Given the description of an element on the screen output the (x, y) to click on. 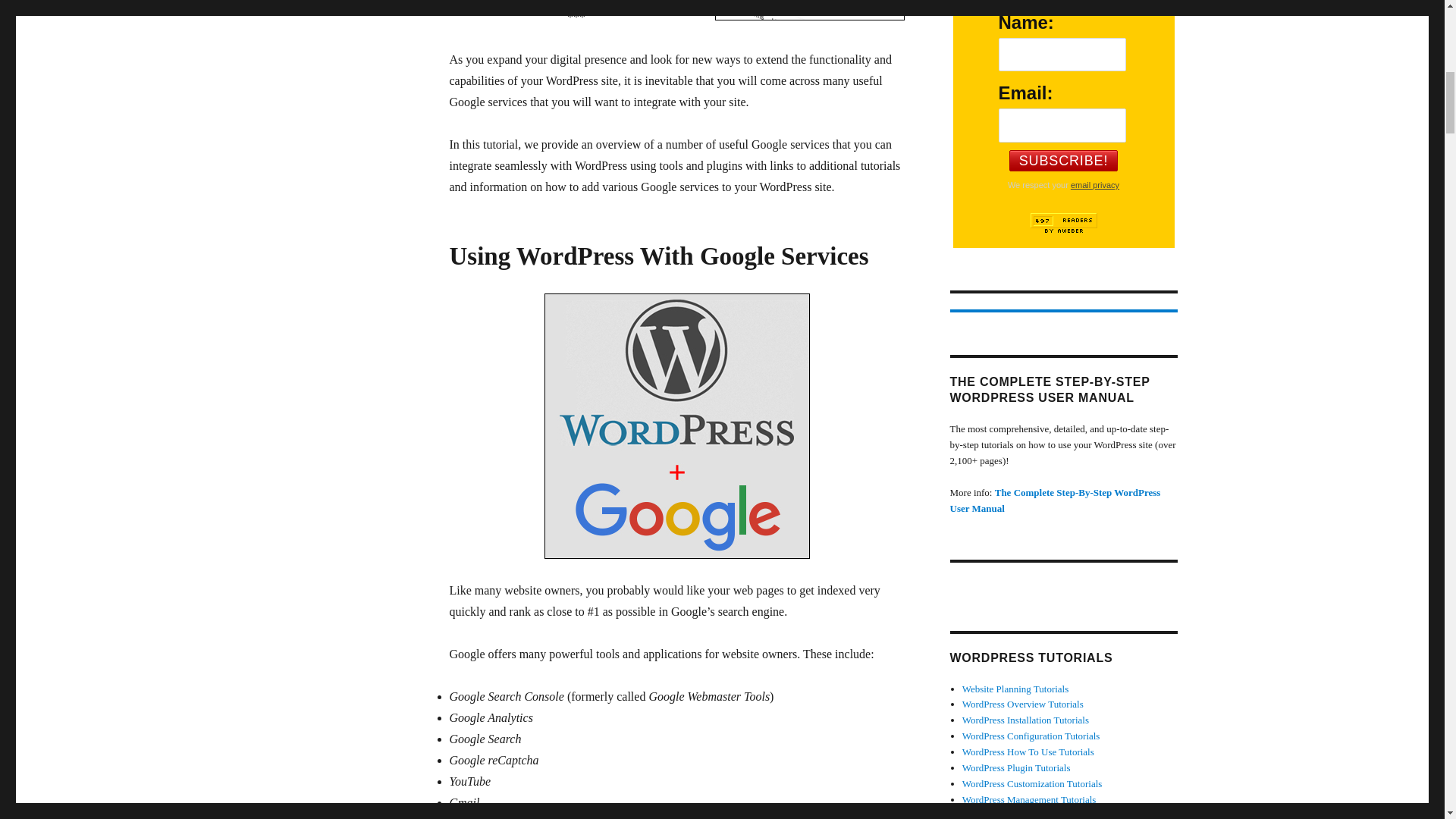
Subscribe! (1063, 160)
Decide Where To Install WordPress (809, 10)
